Given the description of an element on the screen output the (x, y) to click on. 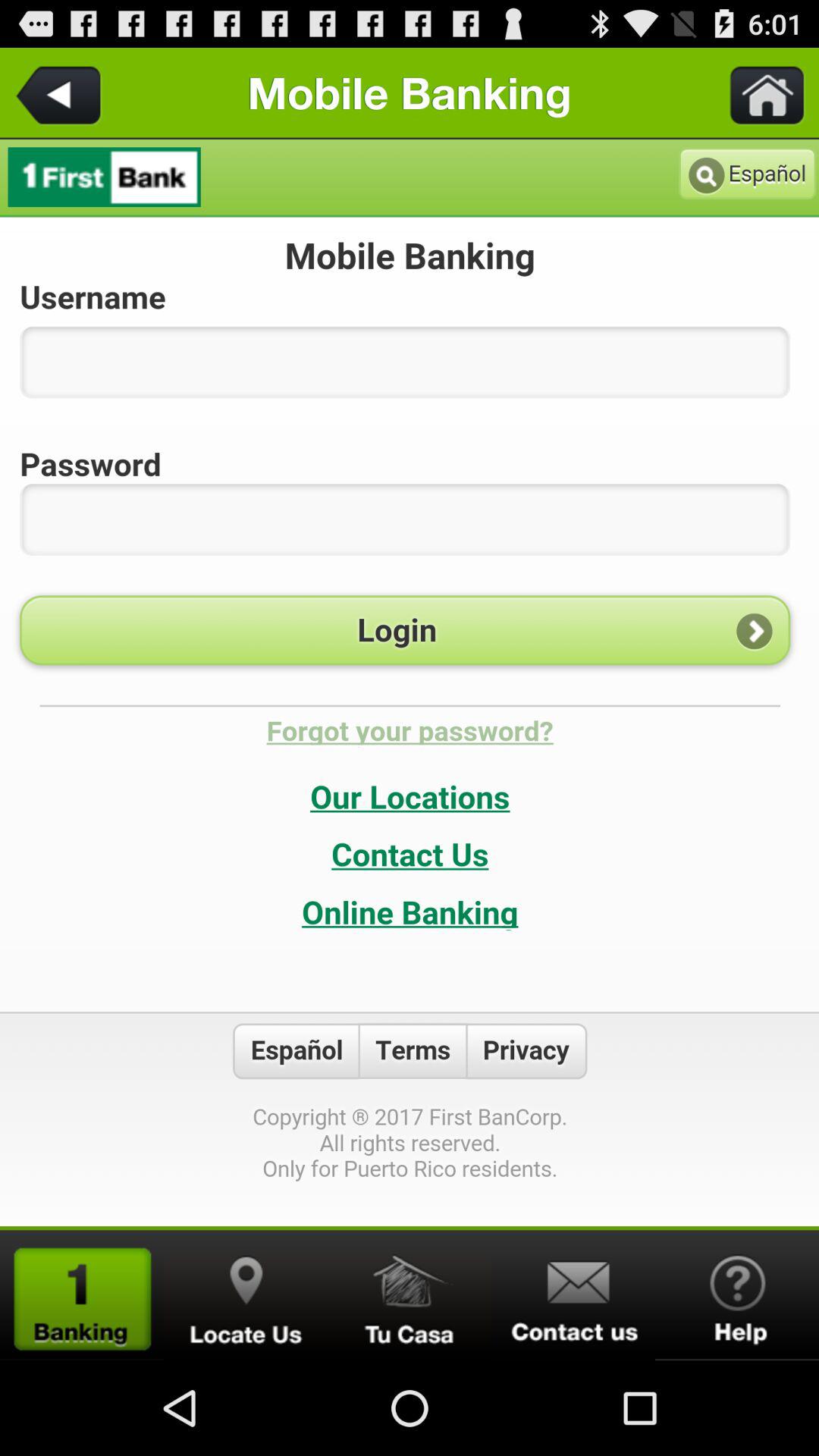
send email (573, 1295)
